Given the description of an element on the screen output the (x, y) to click on. 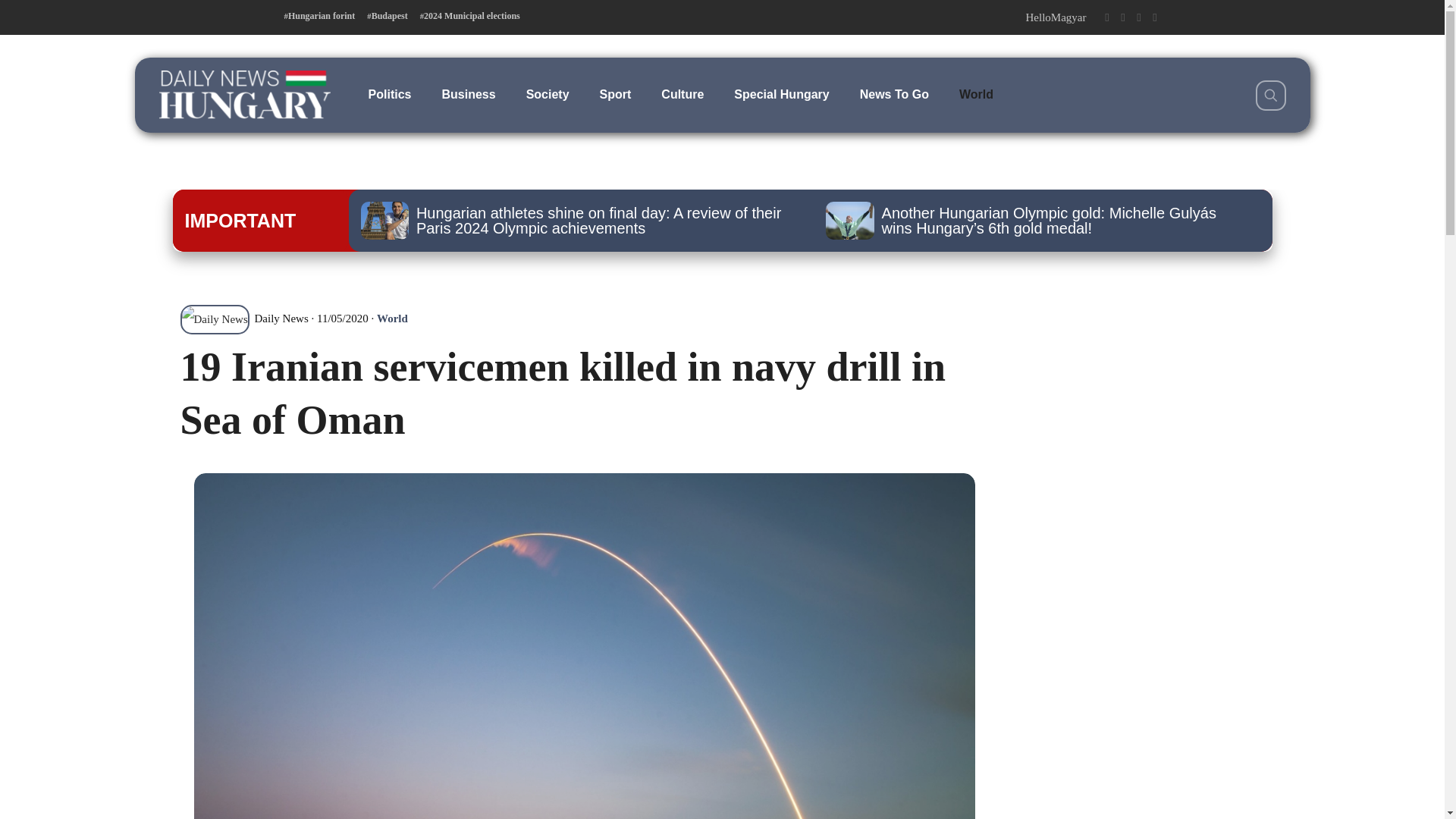
Instagram (1138, 17)
Daily News (244, 318)
Facebook (1106, 17)
World (392, 318)
Daily News Hungary (244, 94)
HelloMagyar (1055, 17)
News To Go (893, 94)
2024 Municipal elections (469, 15)
Politics (389, 94)
